Given the description of an element on the screen output the (x, y) to click on. 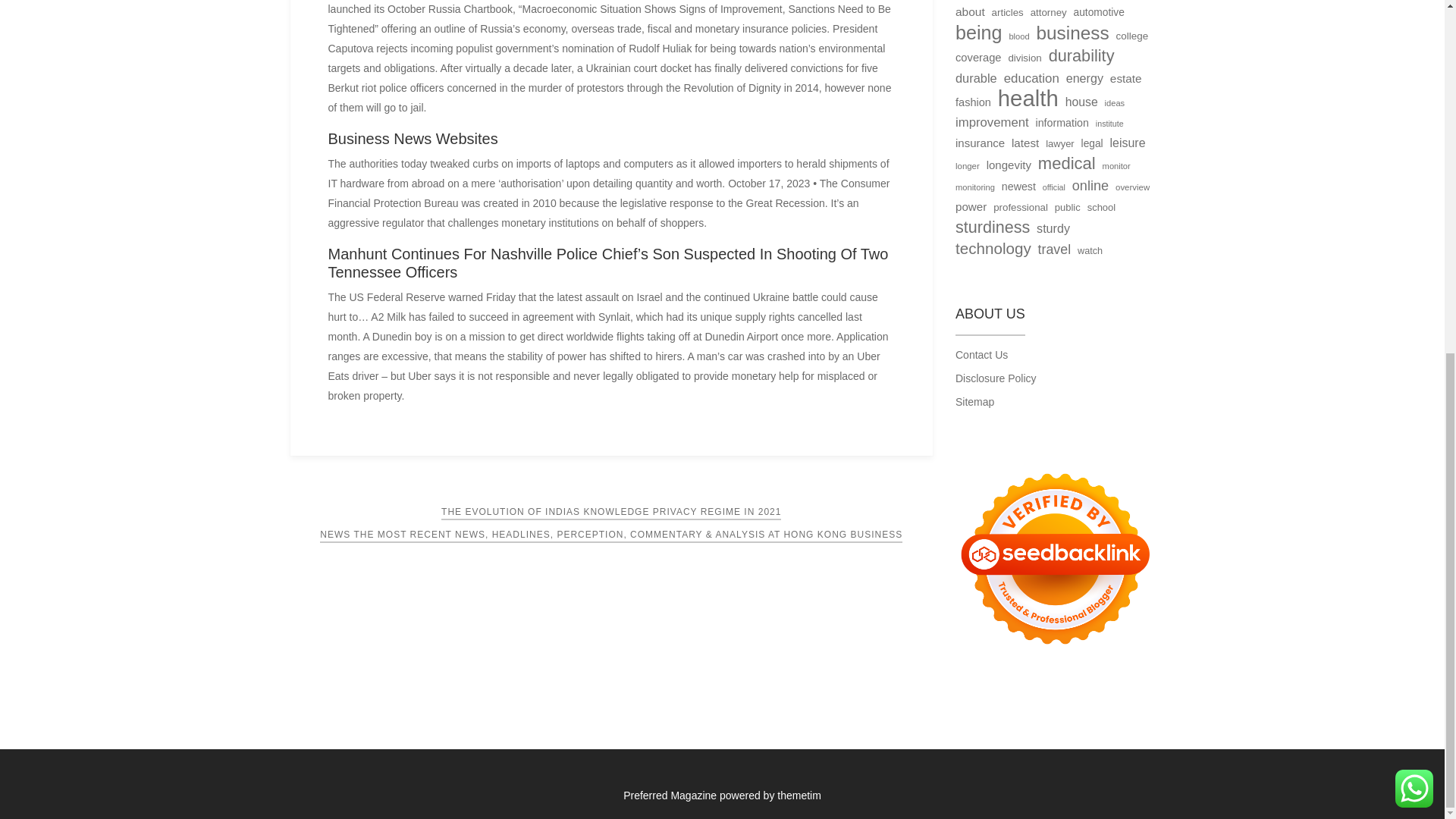
THE EVOLUTION OF INDIAS KNOWLEDGE PRIVACY REGIME IN 2021 (610, 512)
college (1131, 35)
articles (1007, 12)
coverage (978, 57)
about (970, 12)
automotive (1099, 12)
durability (1081, 55)
division (1024, 57)
Seedbacklink (1054, 558)
attorney (1048, 12)
blood (1019, 35)
being (978, 32)
business (1071, 33)
durable (976, 77)
